Given the description of an element on the screen output the (x, y) to click on. 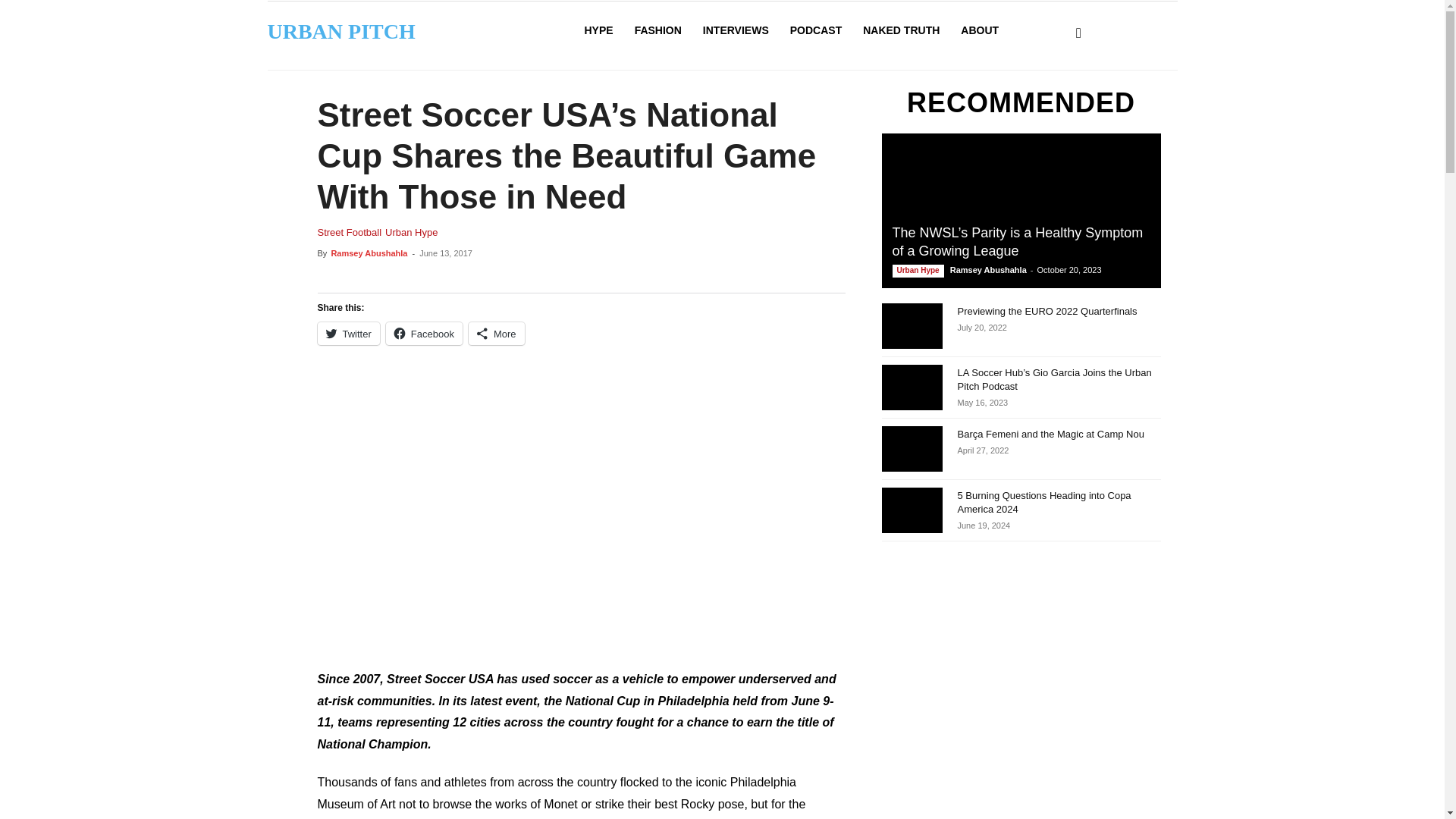
Twitter (347, 333)
HYPE (598, 30)
ABOUT (979, 30)
Click to share on Twitter (347, 333)
PODCAST (814, 30)
Ramsey Abushahla (368, 252)
Facebook (424, 333)
FASHION (658, 30)
INTERVIEWS (735, 30)
Click to share on Facebook (424, 333)
